Given the description of an element on the screen output the (x, y) to click on. 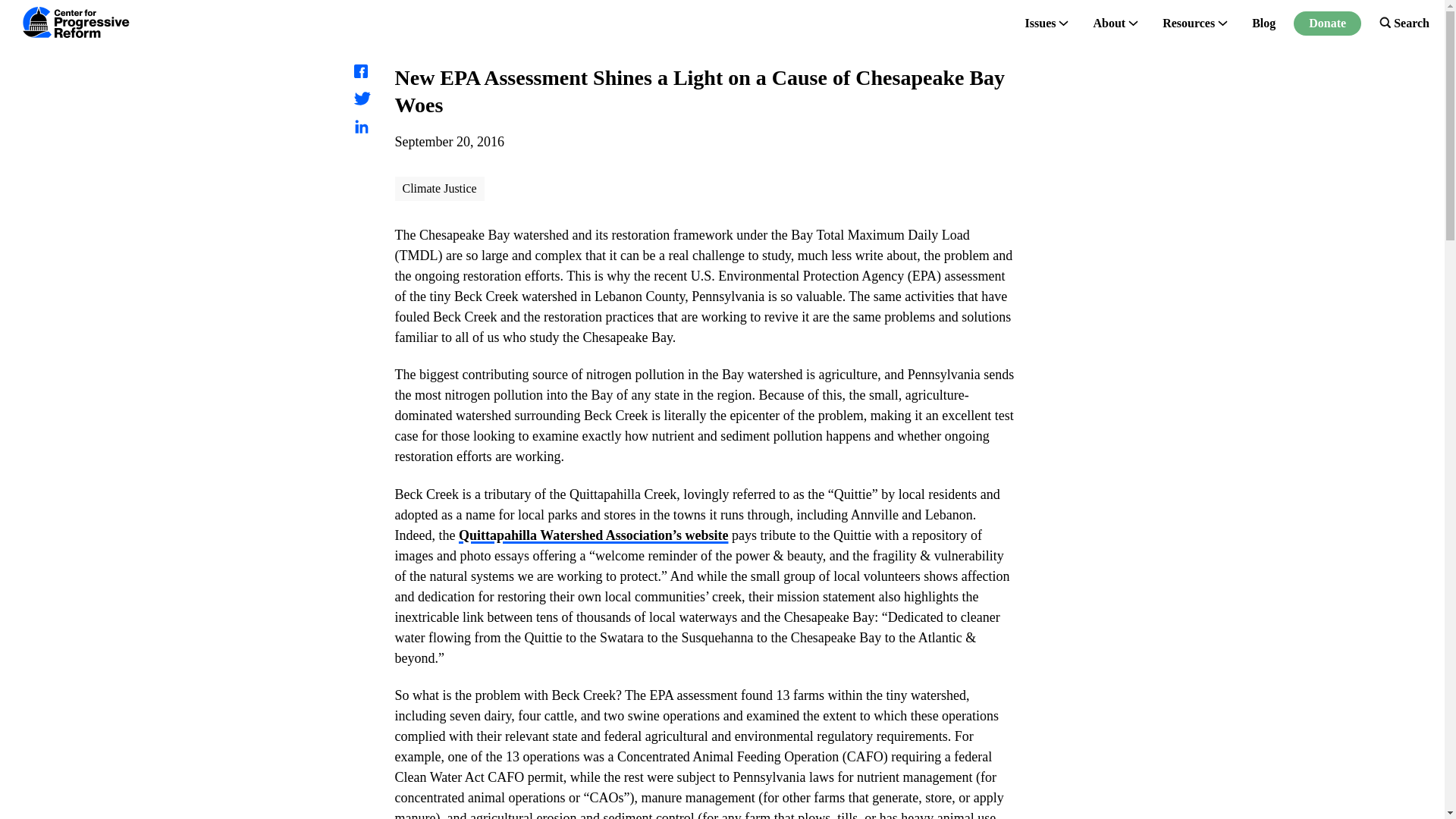
Search (1403, 22)
Blog (1263, 22)
Donate (1327, 22)
About (1109, 22)
Resources (1187, 22)
Issues (1041, 22)
